Given the description of an element on the screen output the (x, y) to click on. 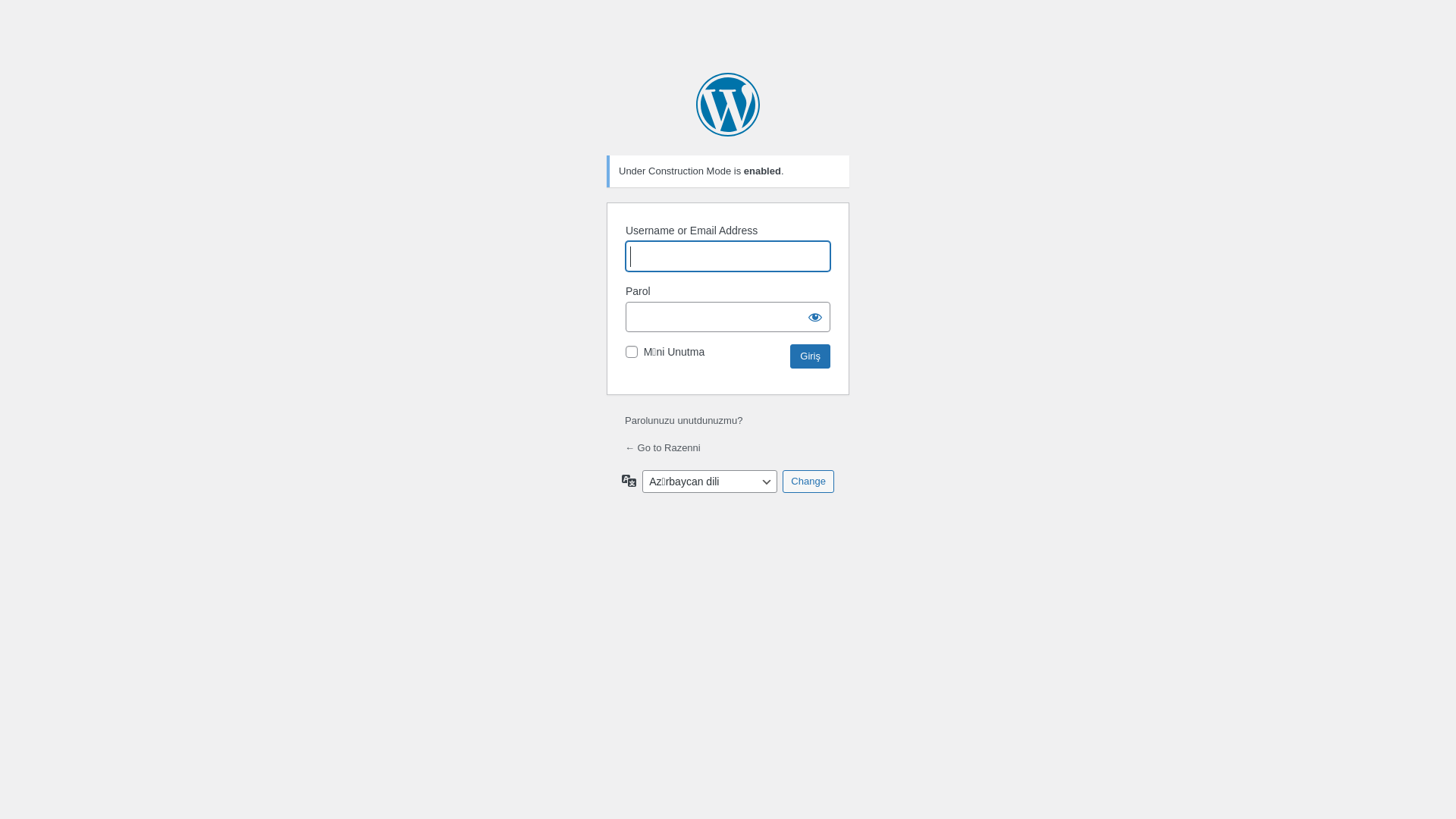
Change Element type: text (808, 481)
Parolunuzu unutdunuzmu? Element type: text (683, 420)
